Given the description of an element on the screen output the (x, y) to click on. 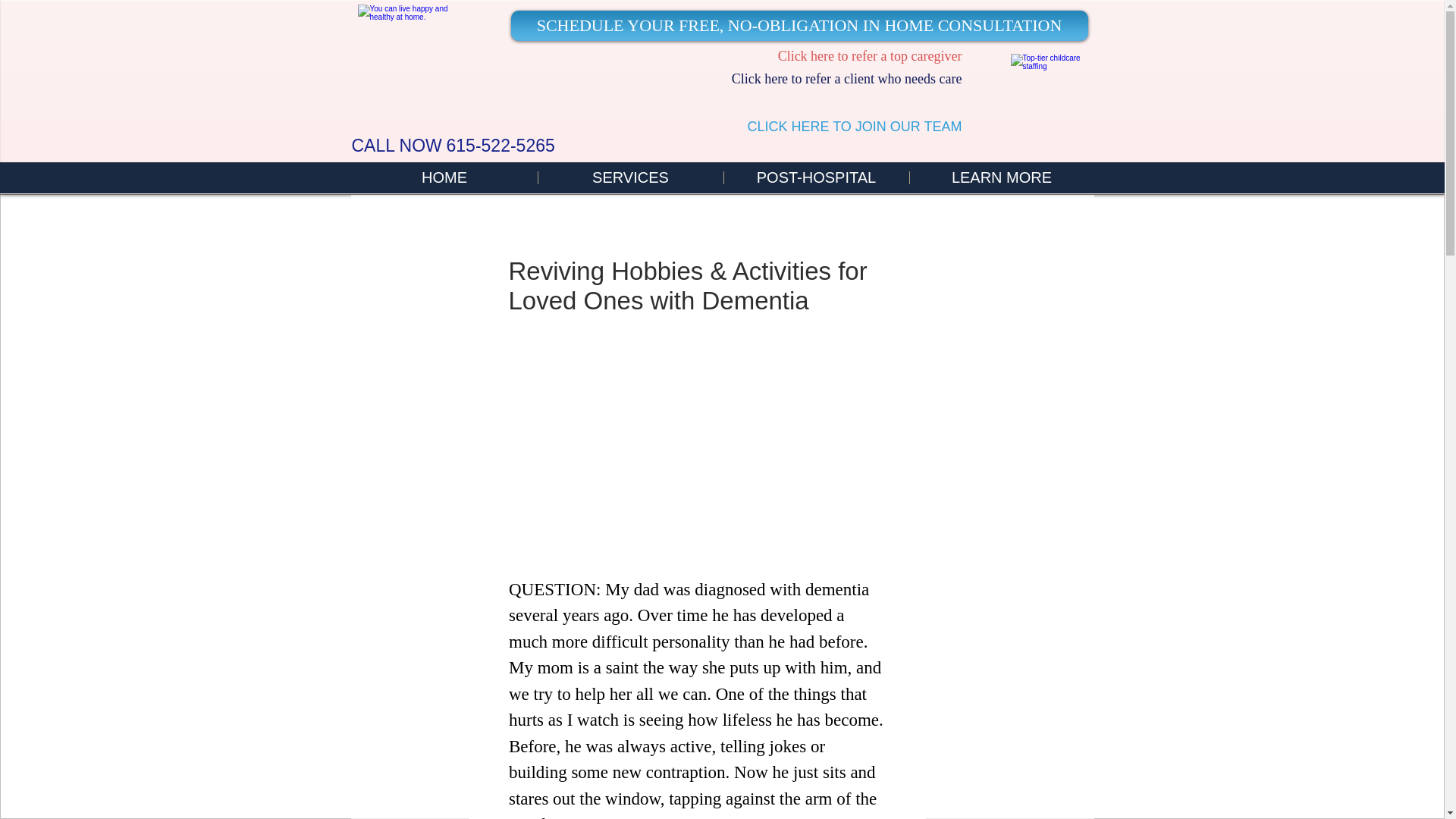
SERVICES (629, 177)
HOME (444, 177)
SCHEDULE YOUR FREE, NO-OBLIGATION IN HOME CONSULTATION (799, 25)
Click here to refer a client who needs care (847, 78)
615-522-5265 (500, 145)
Top-tier childcare staffing (1051, 78)
CLICK HERE TO JOIN OUR TEAM (853, 126)
POST-HOSPITAL (815, 177)
Click here to refer a top caregiver (869, 55)
You can live happy and healthy at home. We can help.  (408, 37)
